Given the description of an element on the screen output the (x, y) to click on. 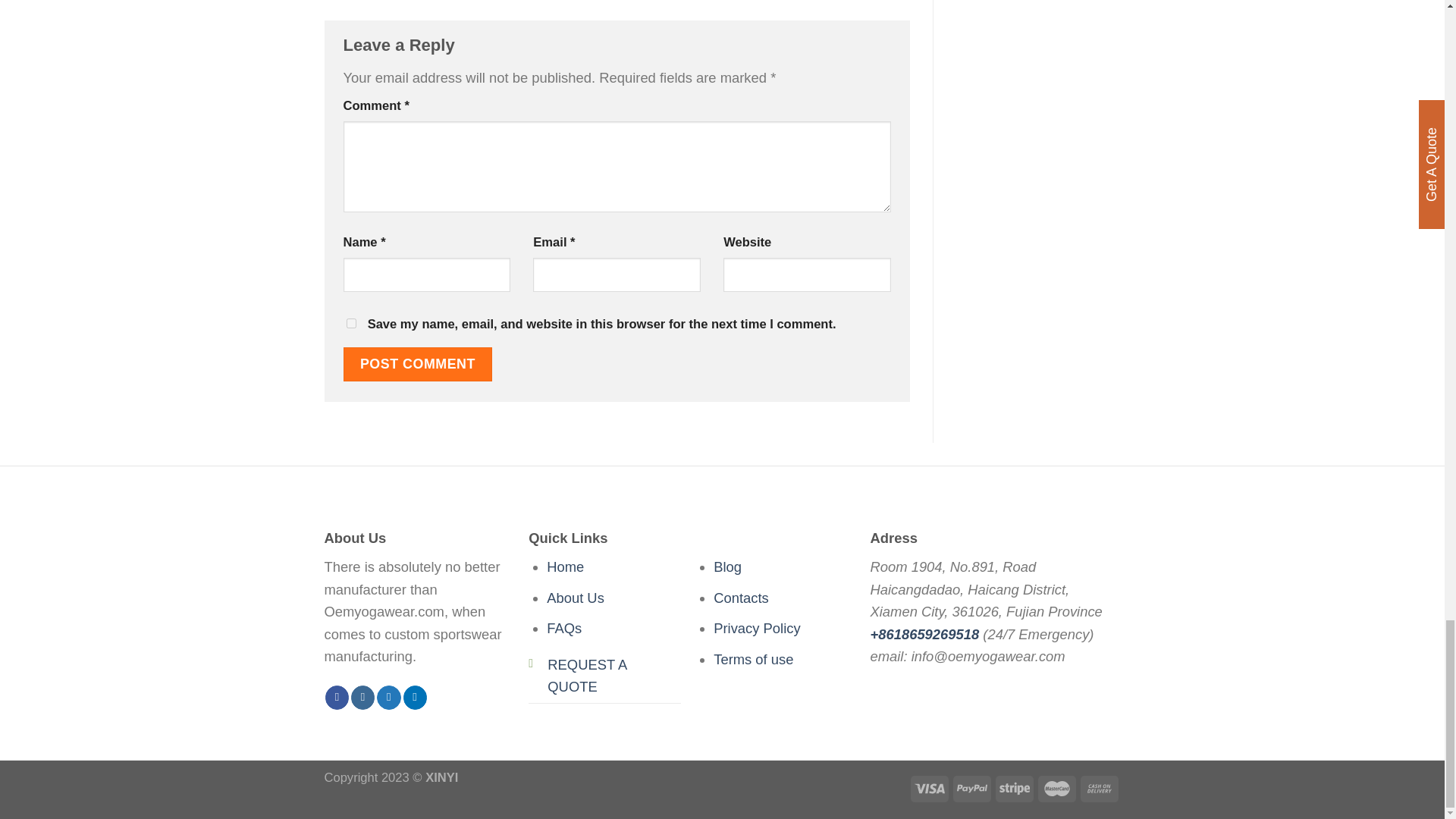
Post Comment (417, 364)
Follow on LinkedIn (414, 697)
Post Comment (417, 364)
Follow on Instagram (362, 697)
Follow on Twitter (388, 697)
yes (350, 323)
Follow on Facebook (336, 697)
